Given the description of an element on the screen output the (x, y) to click on. 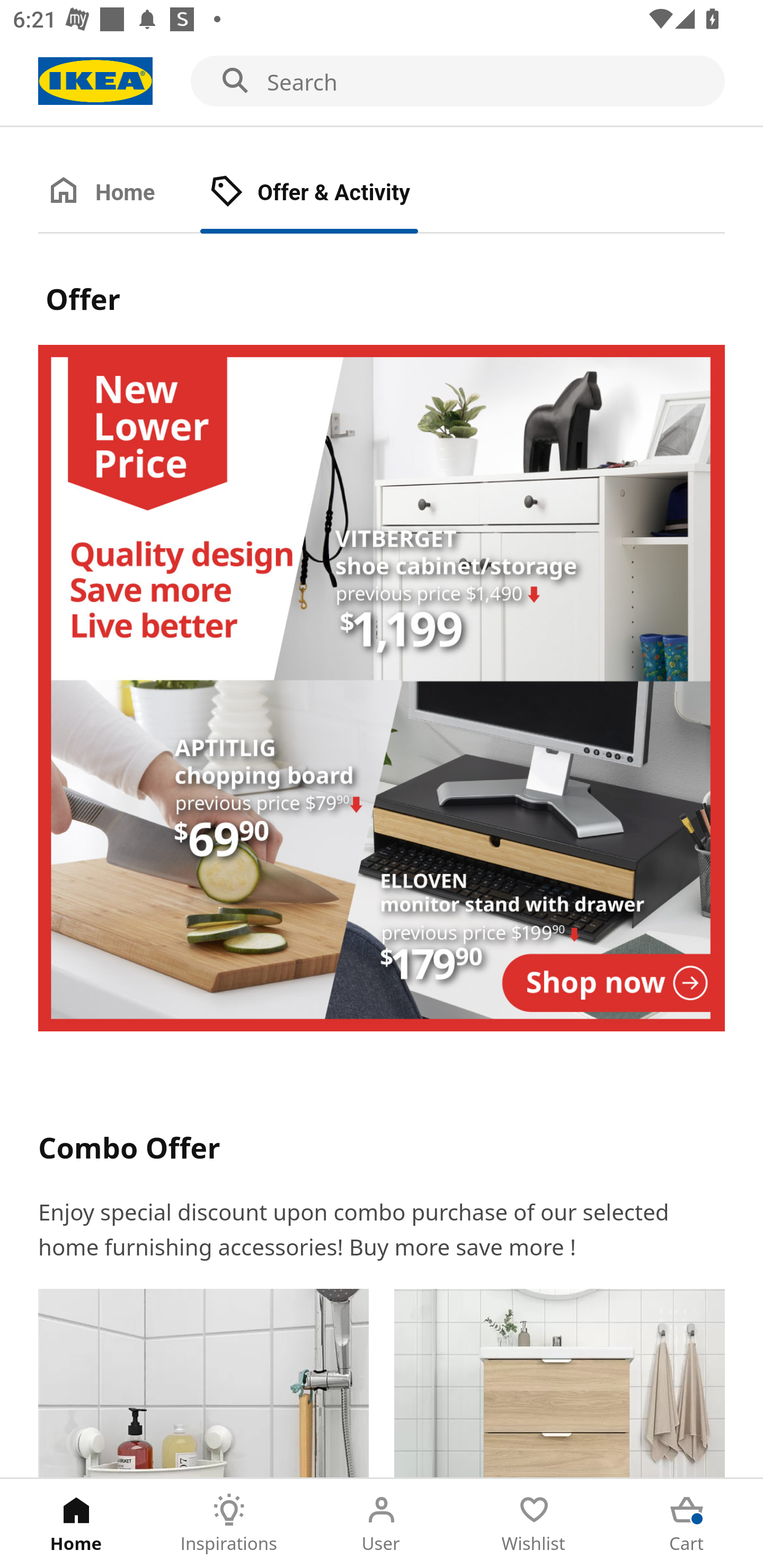
Search (381, 81)
Home
Tab 1 of 2 (118, 192)
Offer & Activity
Tab 2 of 2 (327, 192)
Home
Tab 1 of 5 (76, 1522)
Inspirations
Tab 2 of 5 (228, 1522)
User
Tab 3 of 5 (381, 1522)
Wishlist
Tab 4 of 5 (533, 1522)
Cart
Tab 5 of 5 (686, 1522)
